Given the description of an element on the screen output the (x, y) to click on. 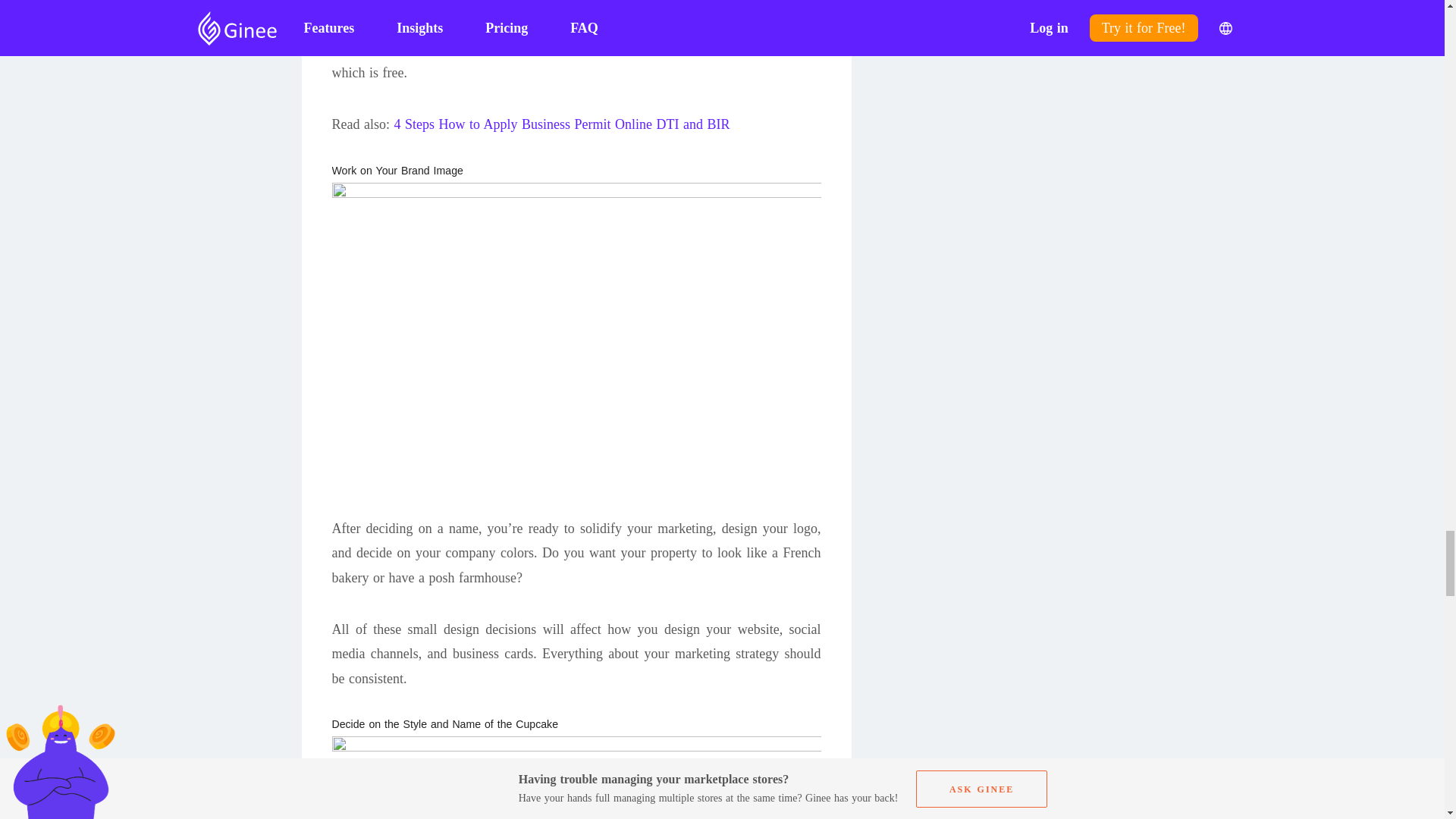
4 Steps How to Apply Business Permit Online DTI and BIR (561, 124)
